Given the description of an element on the screen output the (x, y) to click on. 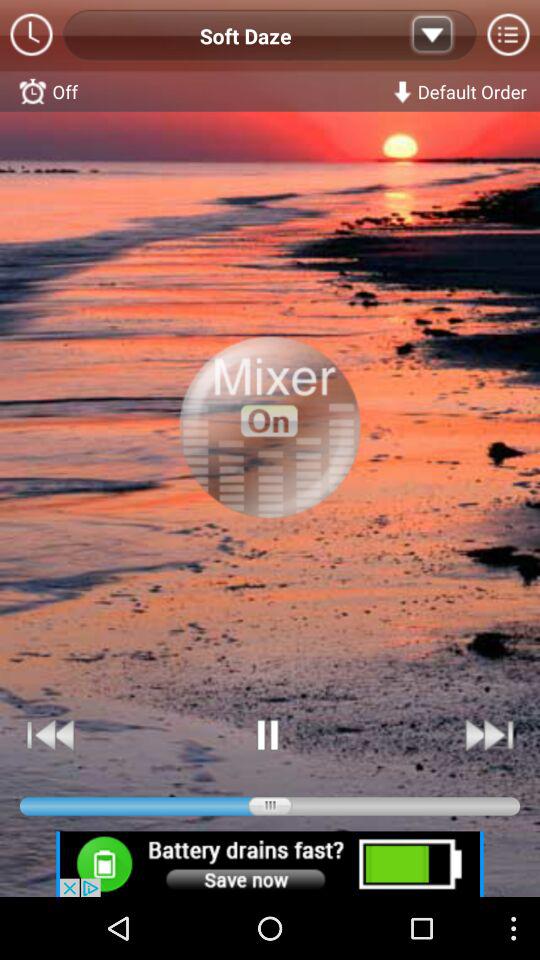
next option (488, 734)
